Given the description of an element on the screen output the (x, y) to click on. 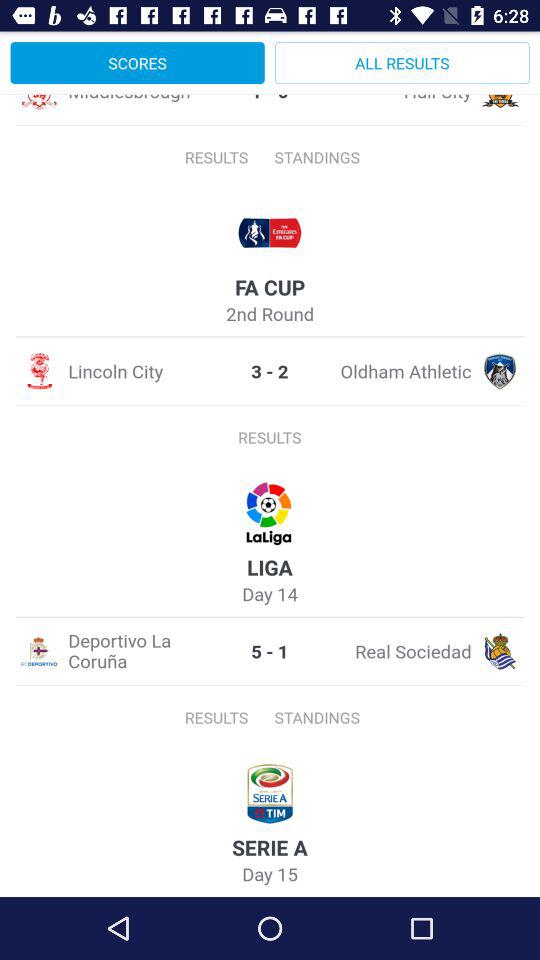
open item to the left of all results icon (137, 62)
